Given the description of an element on the screen output the (x, y) to click on. 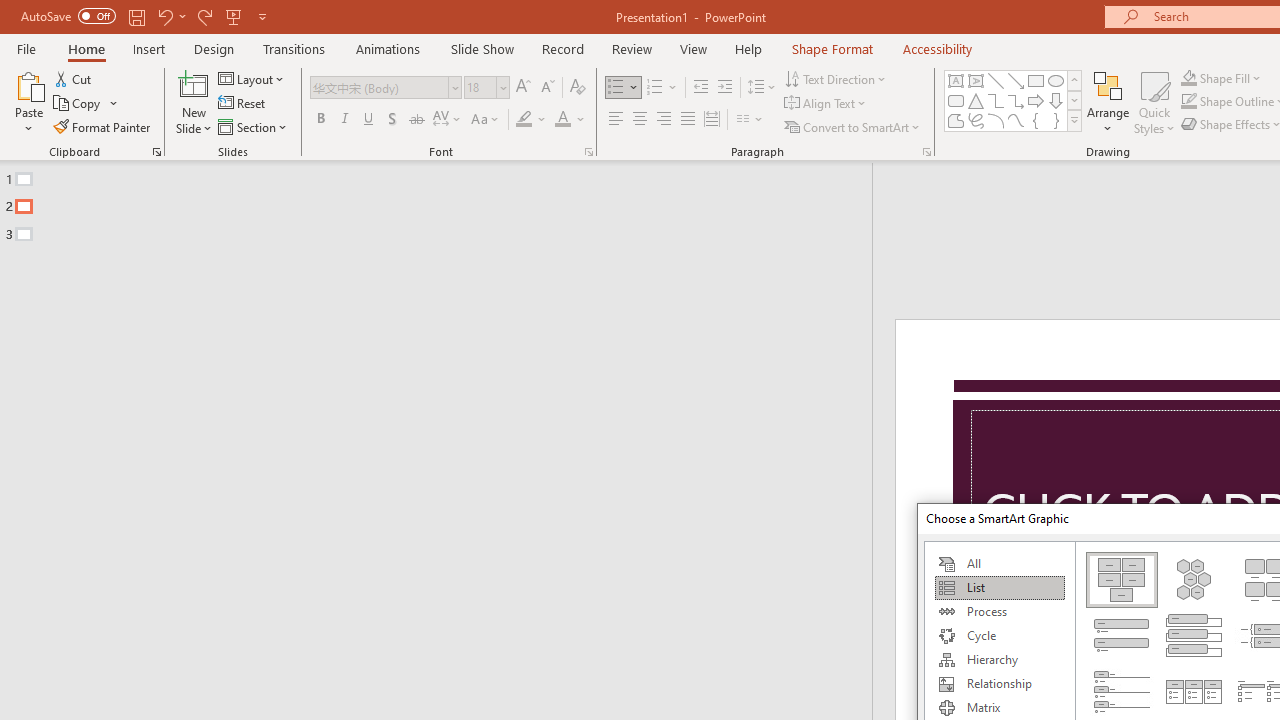
Section (254, 126)
Text Direction (836, 78)
Shadow (392, 119)
Center (639, 119)
Oval (1055, 80)
Class: NetUIImage (1075, 120)
New Slide (193, 84)
Process (999, 611)
Bold (320, 119)
Decrease Font Size (547, 87)
Italic (344, 119)
Font Size (480, 87)
Font... (588, 151)
